Given the description of an element on the screen output the (x, y) to click on. 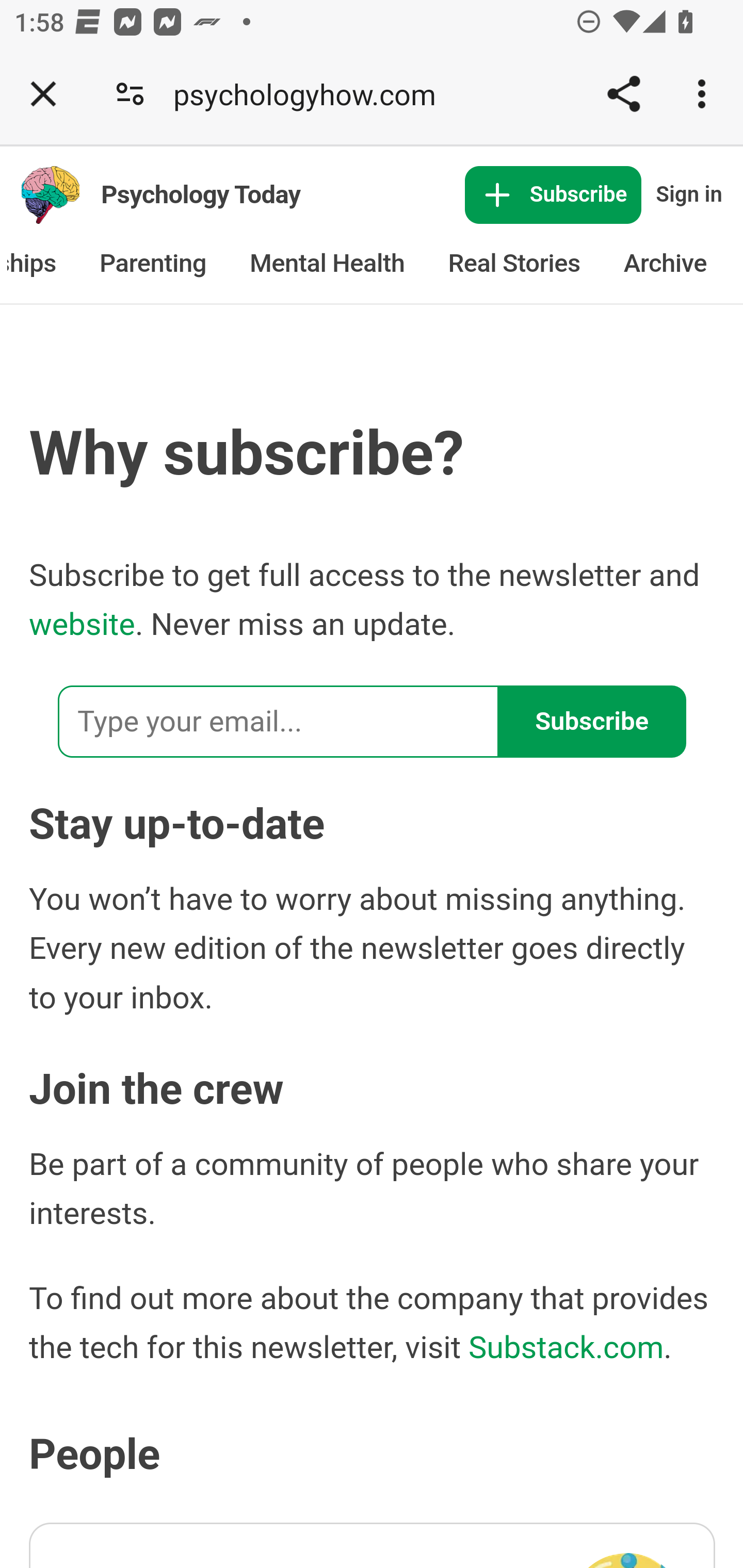
Close tab (43, 93)
Share (623, 93)
Customize and control Google Chrome (705, 93)
Connection is secure (129, 93)
psychologyhow.com (312, 93)
Subscribe (552, 195)
Sign in (685, 195)
Psychology Today (201, 194)
Parenting (152, 264)
Mental Health (327, 264)
Real Stories (514, 264)
Archive (665, 264)
website (81, 625)
Subscribe (592, 720)
Substack.com (565, 1346)
